Given the description of an element on the screen output the (x, y) to click on. 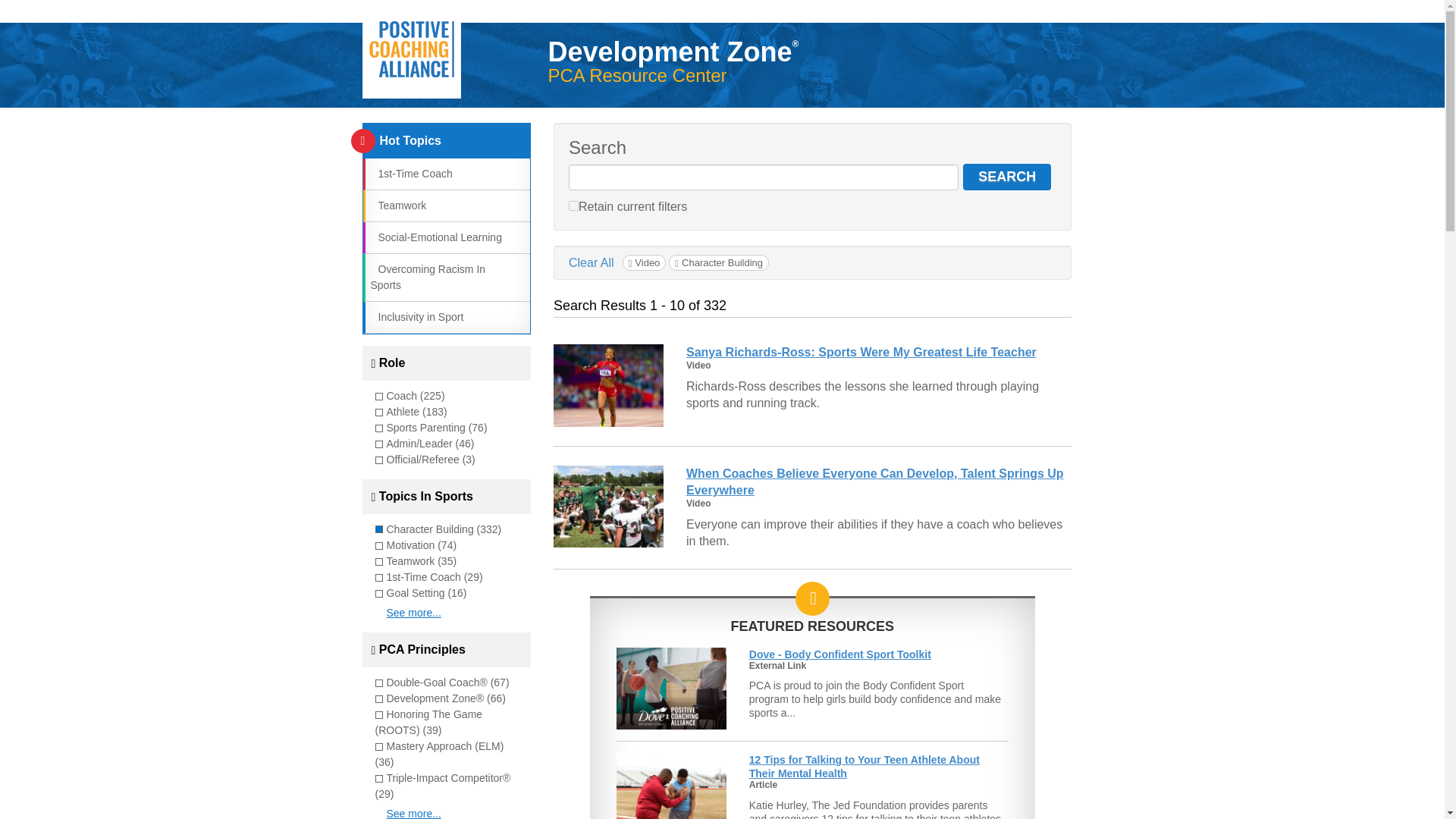
1 (573, 205)
Social-Emotional Learning (434, 236)
1st-Time Coach (410, 173)
See more... (414, 612)
Teamwork (397, 205)
Overcoming Racism In Sports (426, 276)
Inclusivity in Sport (416, 316)
